Given the description of an element on the screen output the (x, y) to click on. 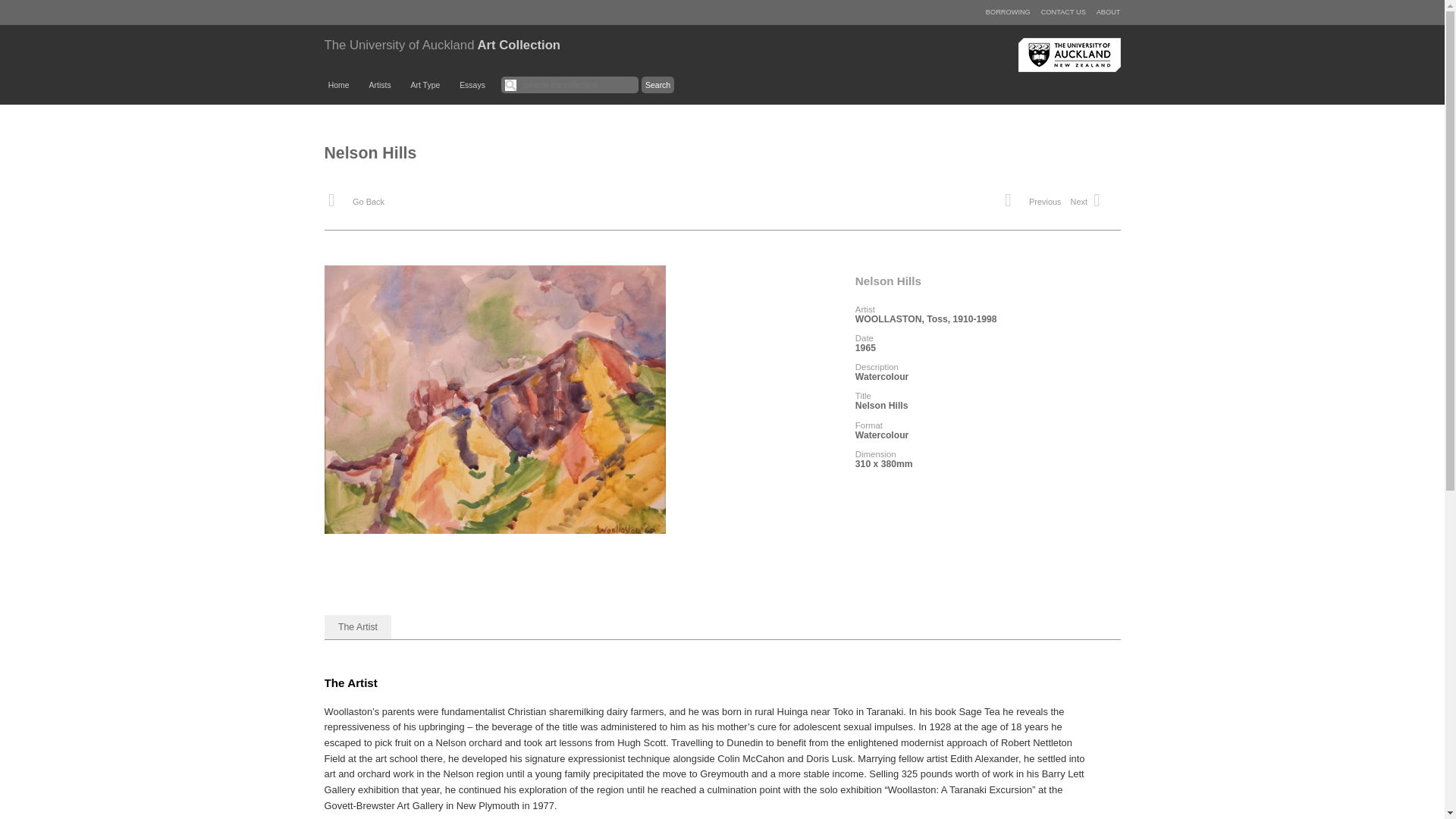
Art Type (425, 84)
Home (338, 84)
Essays (472, 84)
Previous (1030, 202)
The University of Auckland Art Collection (442, 44)
BORROWING (1007, 11)
Search (658, 84)
Next (1092, 202)
Libraries and Learning Services (1068, 54)
Title: Nelson Hills (494, 529)
Artists (379, 84)
WOOLLASTON, Toss, 1910-1998 (926, 318)
Go Back (356, 202)
CONTACT US (1063, 11)
The Artist (357, 627)
